Given the description of an element on the screen output the (x, y) to click on. 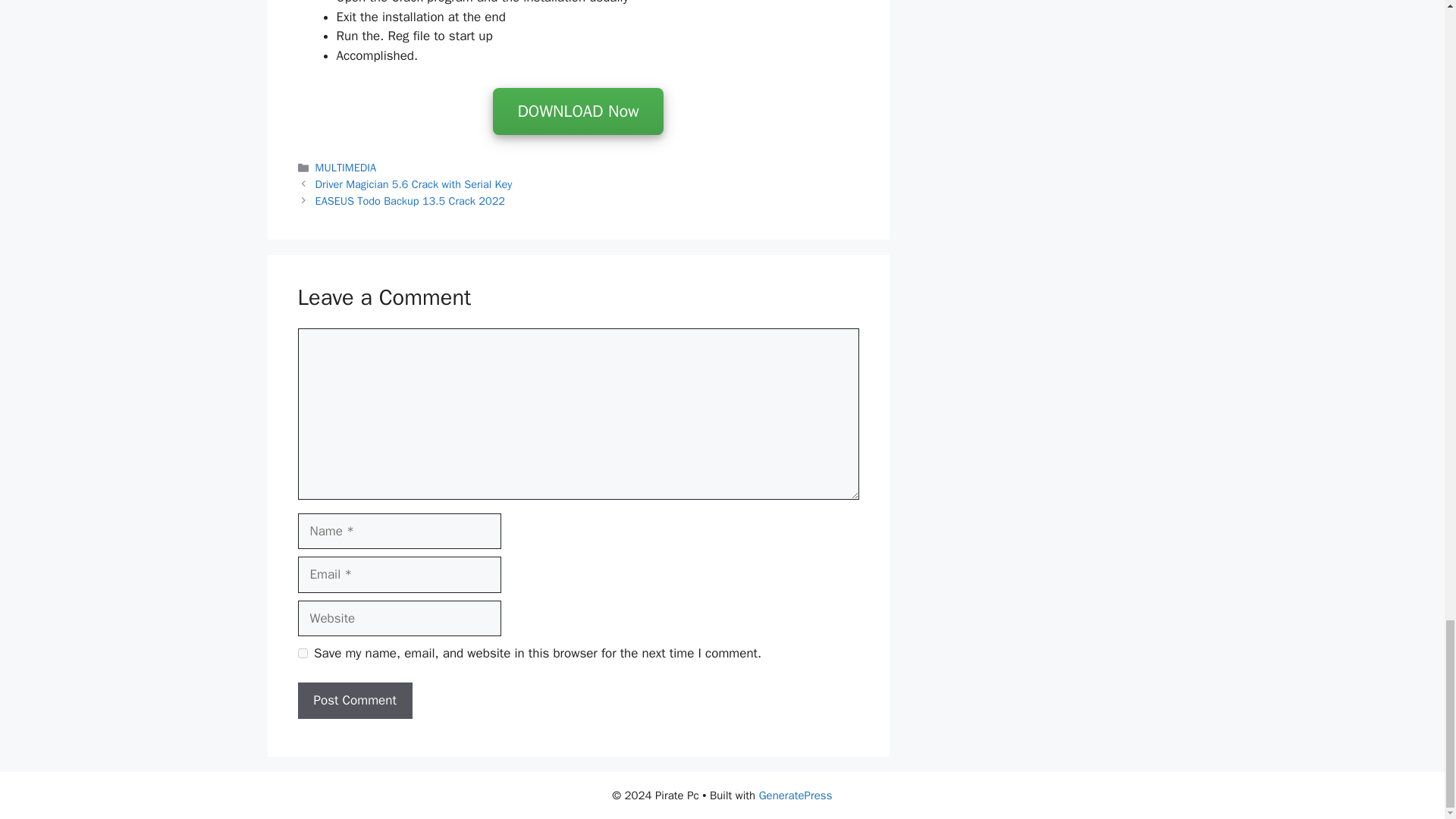
GeneratePress (795, 795)
MULTIMEDIA (346, 167)
DOWNLOAD Now (577, 112)
EASEUS Todo Backup 13.5 Crack 2022 (410, 201)
Post Comment (354, 700)
yes (302, 653)
Post Comment (354, 700)
DOWNLOAD Now (577, 111)
Driver Magician 5.6 Crack with Serial Key (413, 183)
